Given the description of an element on the screen output the (x, y) to click on. 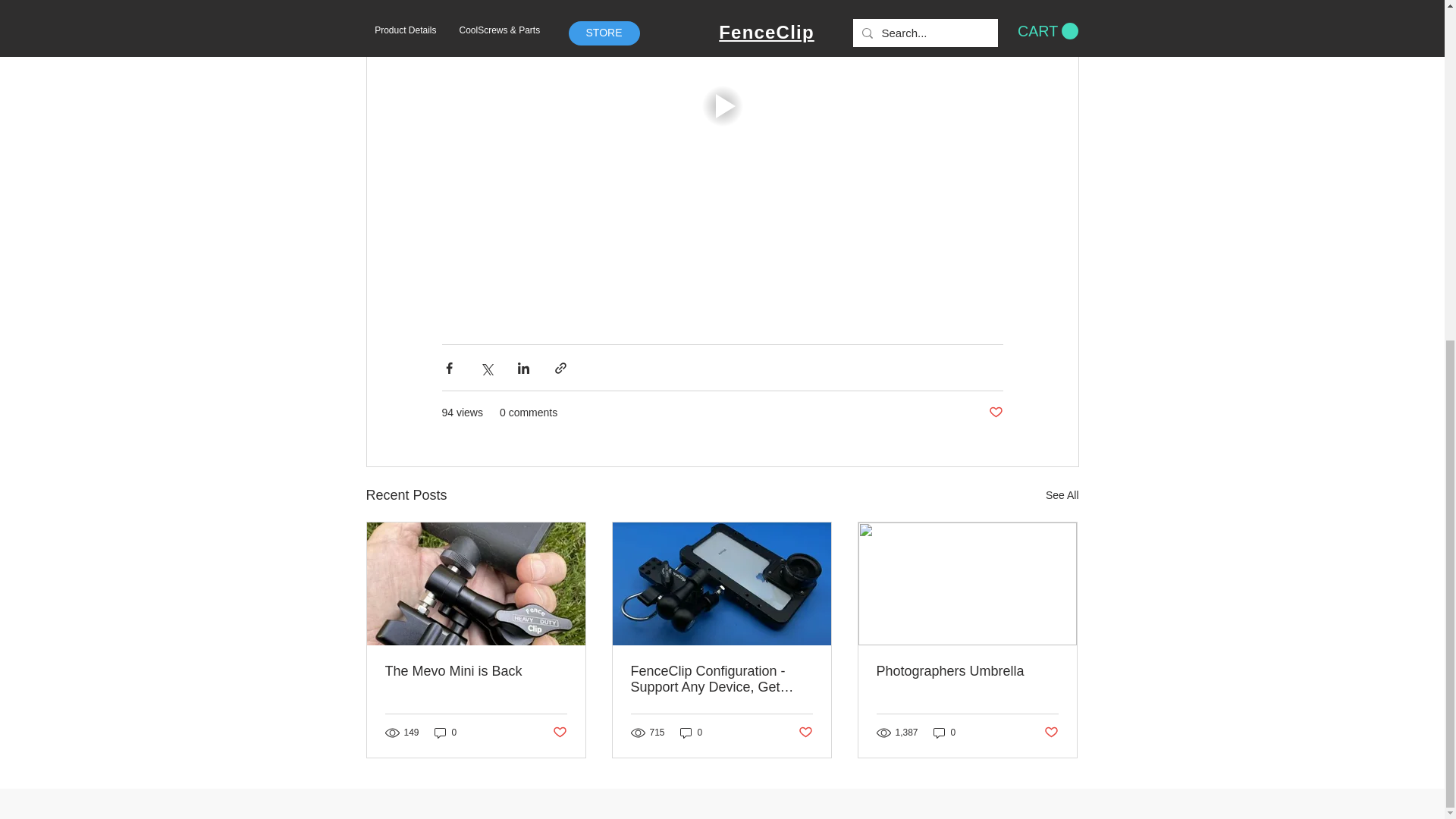
0 (691, 732)
Post not marked as liked (804, 732)
Post not marked as liked (995, 412)
0 (445, 732)
0 (944, 732)
Post not marked as liked (1050, 732)
Post not marked as liked (558, 732)
Photographers Umbrella (967, 671)
See All (1061, 495)
